Given the description of an element on the screen output the (x, y) to click on. 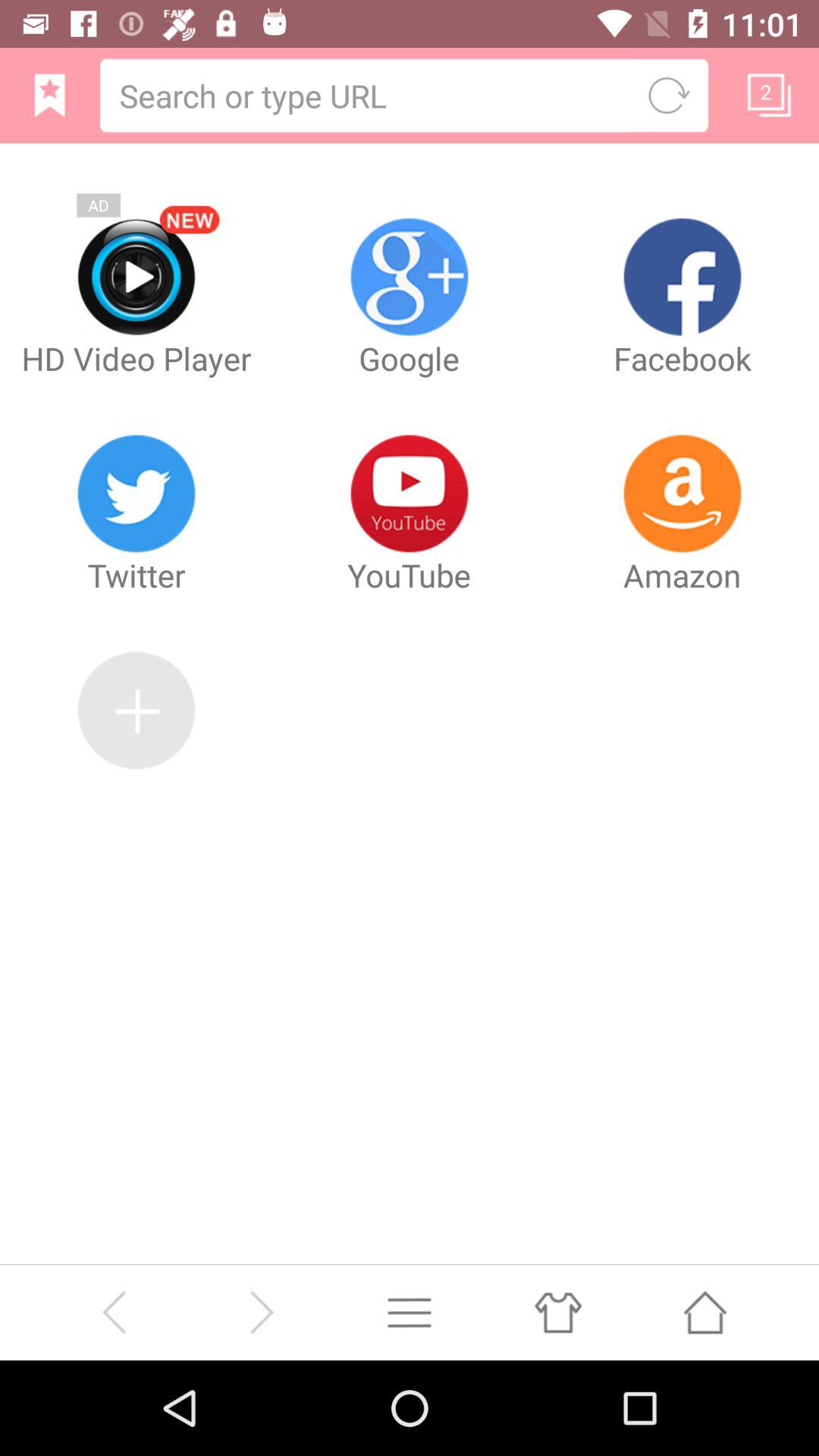
go to shop (557, 1312)
